Given the description of an element on the screen output the (x, y) to click on. 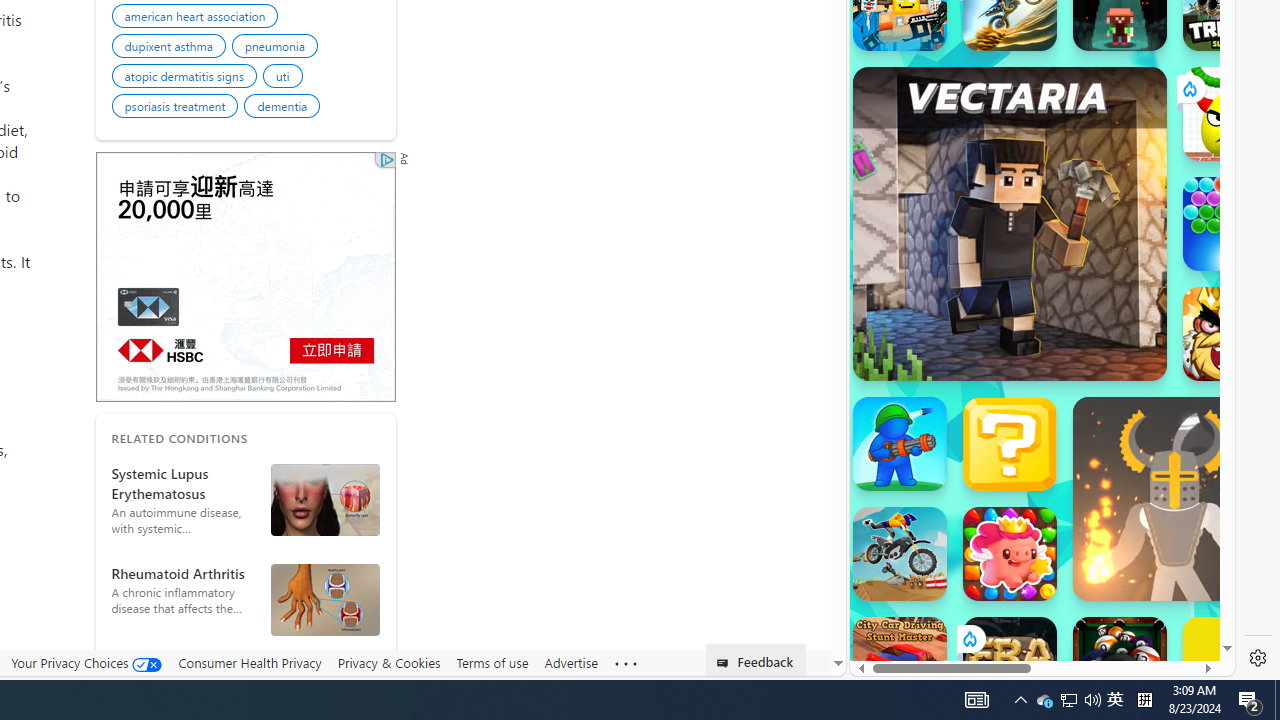
Crazy Bikes (899, 553)
8 Ball Pool With Buddies 8 Ball Pool With Buddies (1119, 664)
Ragdoll Hit (1174, 498)
Hills of Steel (943, 300)
City Car Driving: Stunt Master (899, 664)
dementia (285, 108)
Search results from poki.com (1005, 59)
uti (285, 79)
Match Arena Match Arena (1009, 553)
Vectaria.io Vectaria.io (1009, 223)
